Given the description of an element on the screen output the (x, y) to click on. 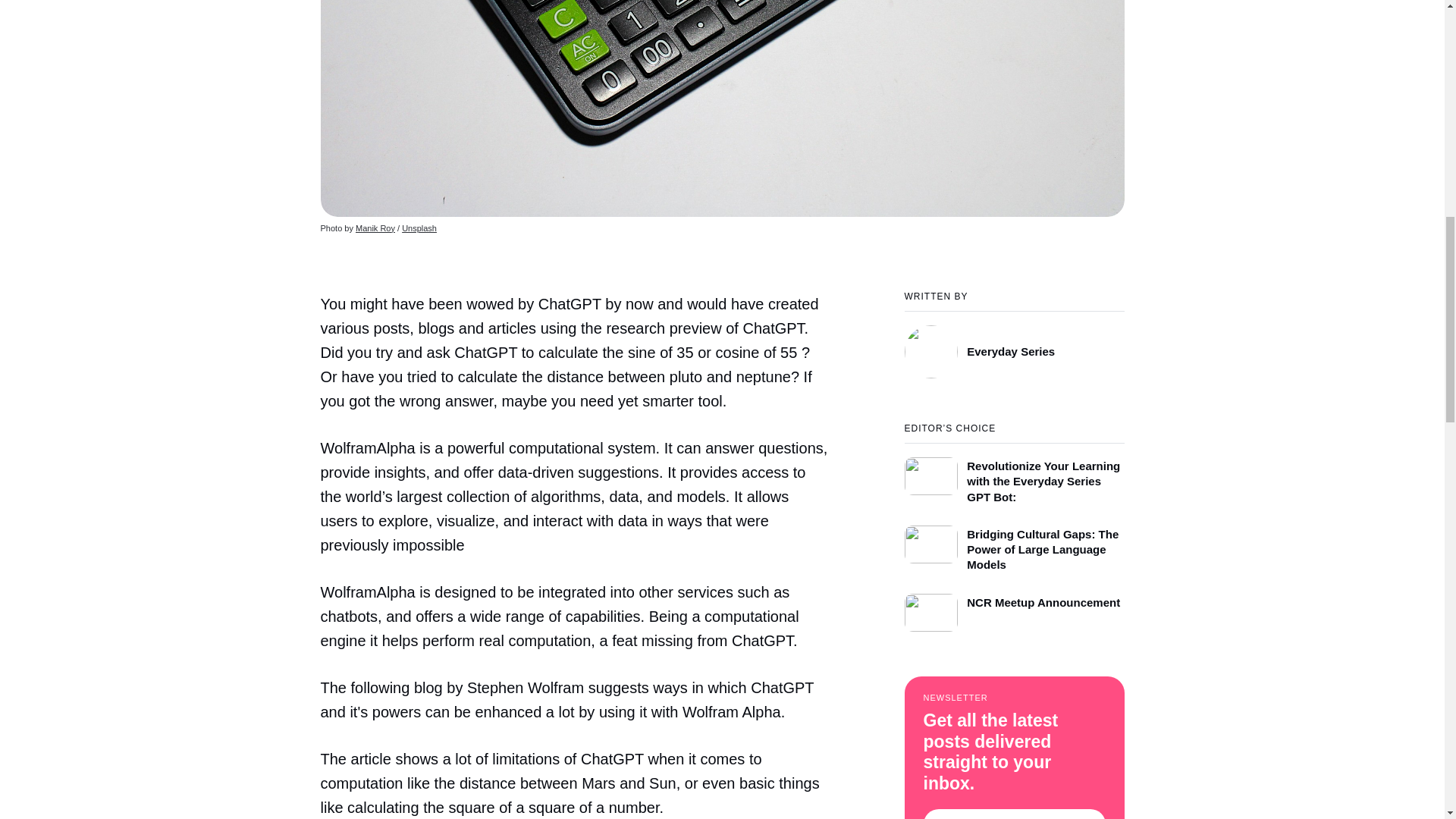
Bridging Cultural Gaps: The Power of Large Language Models (1014, 544)
Everyday Series (1014, 344)
NCR Meetup Announcement (1014, 608)
Unsplash (418, 227)
Manik Roy (374, 227)
